Given the description of an element on the screen output the (x, y) to click on. 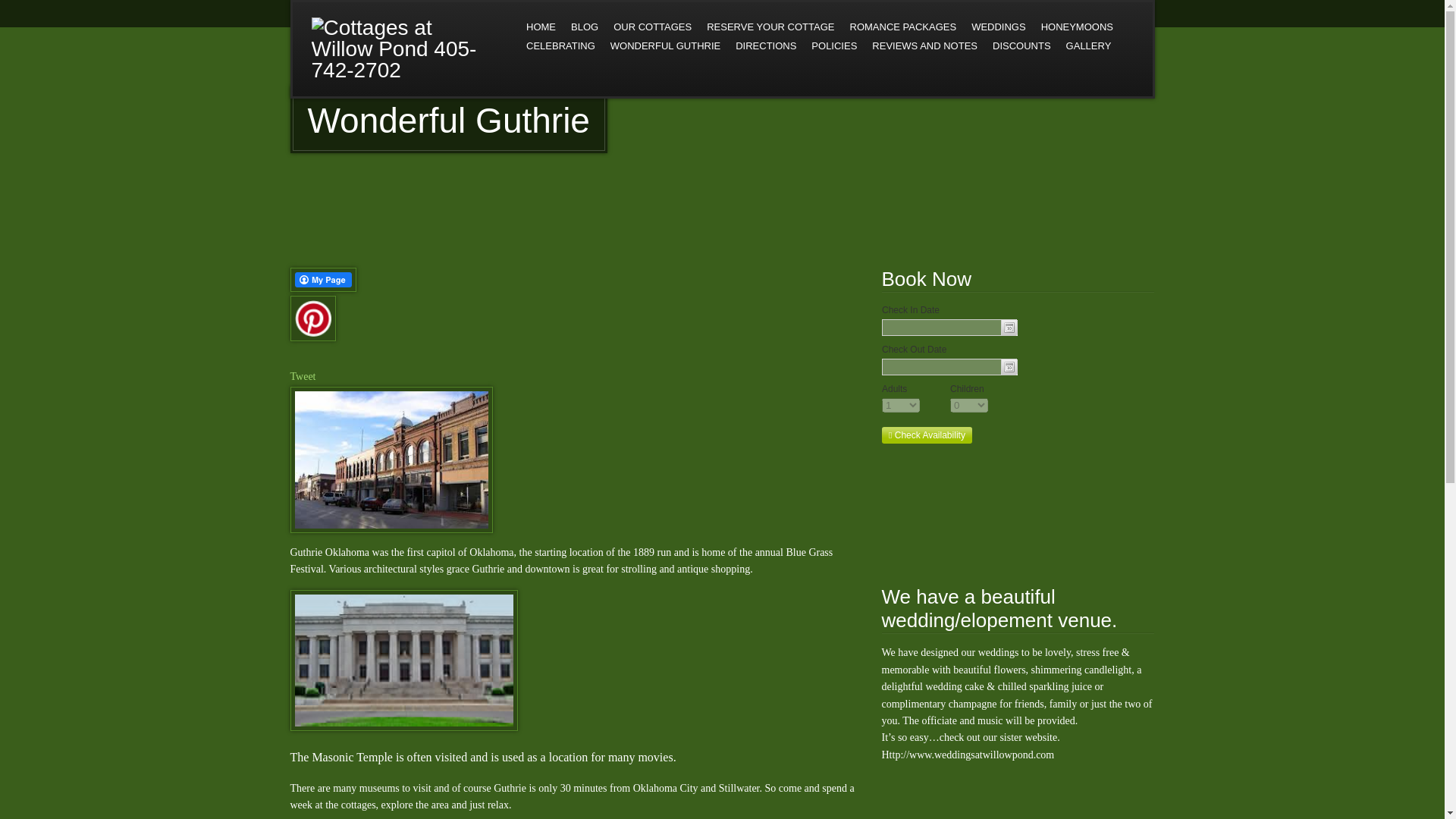
HONEYMOONS (1077, 26)
BLOG (584, 26)
CELEBRATING (560, 45)
WEDDINGS (998, 26)
WONDERFUL GUTHRIE (665, 45)
OUR COTTAGES (651, 26)
HOME (540, 26)
RESERVE YOUR COTTAGE (769, 26)
ROMANCE PACKAGES (902, 26)
